Given the description of an element on the screen output the (x, y) to click on. 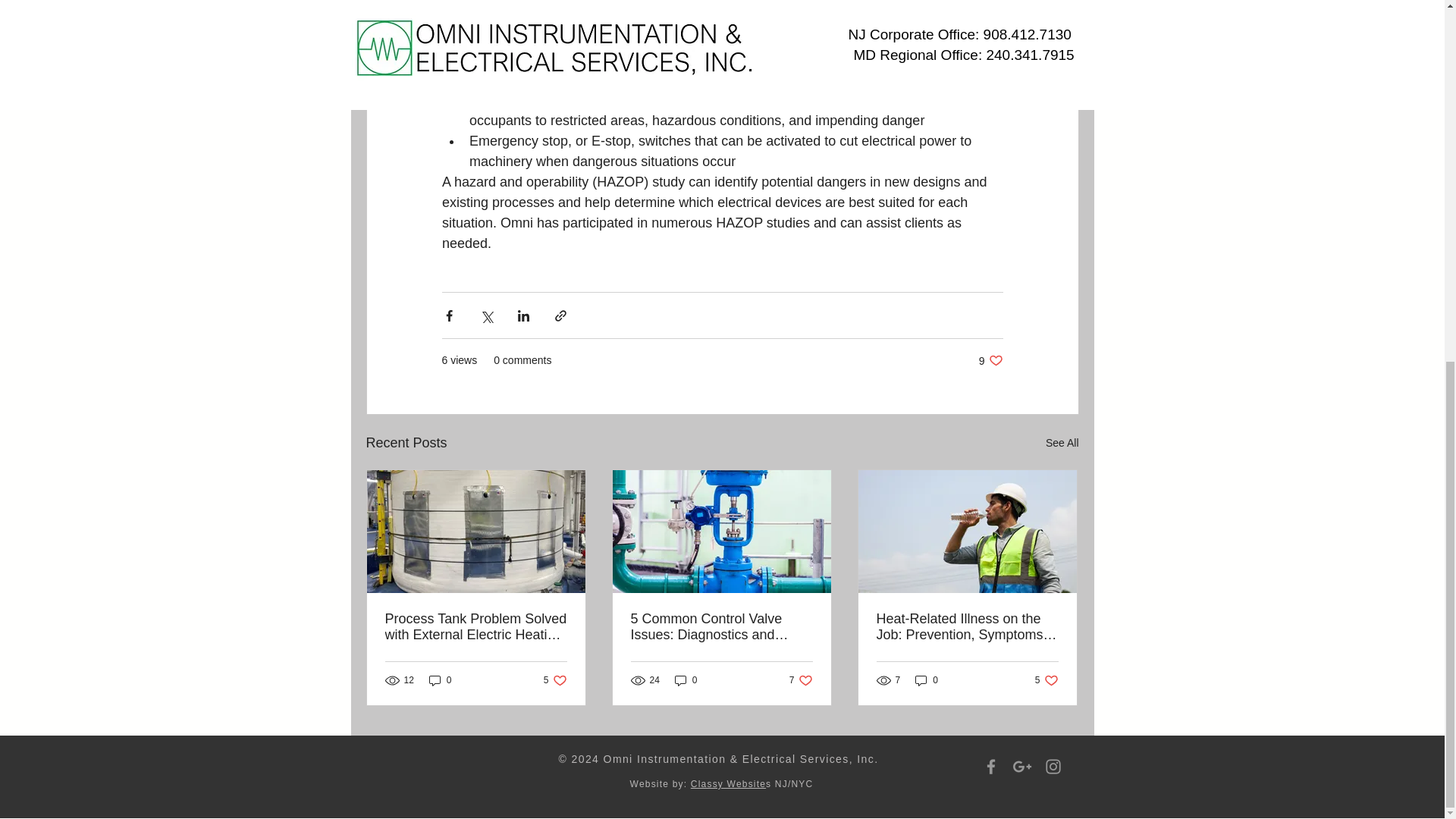
5 Common Control Valve Issues: Diagnostics and Solutions (721, 626)
0 (800, 679)
0 (555, 679)
0 (440, 679)
See All (926, 679)
